Given the description of an element on the screen output the (x, y) to click on. 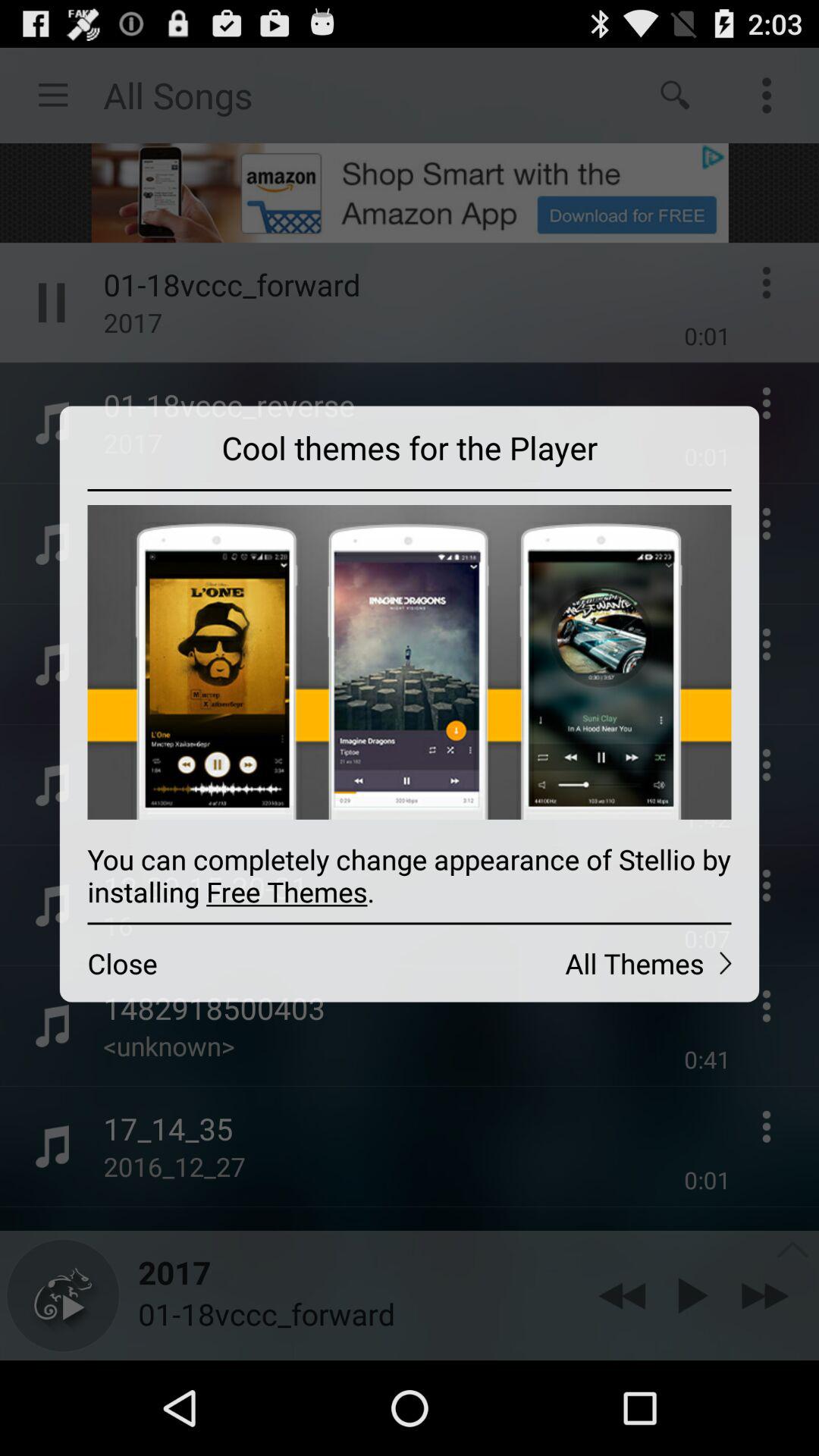
flip to the close item (234, 963)
